Given the description of an element on the screen output the (x, y) to click on. 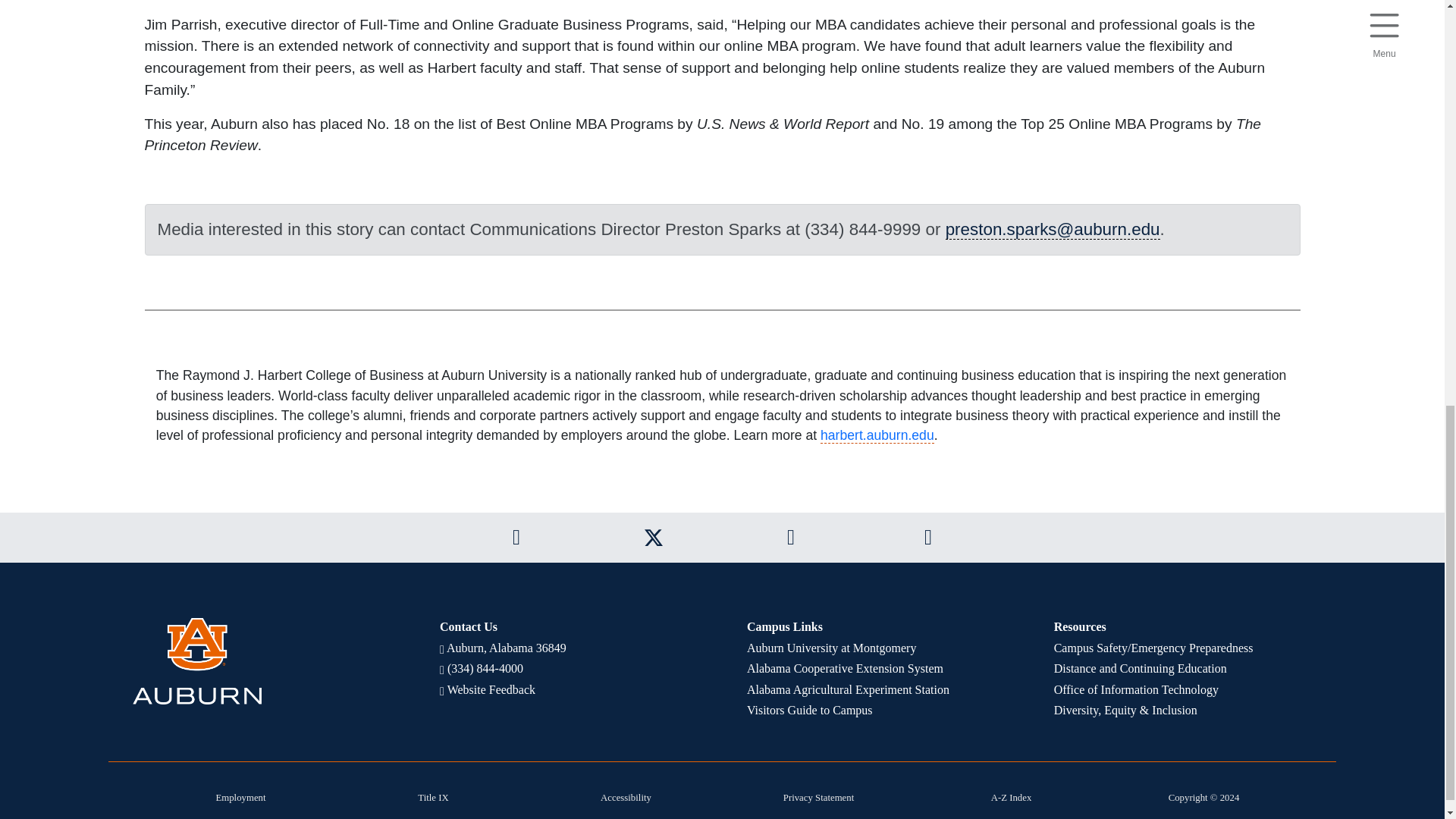
link to university homepage (261, 660)
